Given the description of an element on the screen output the (x, y) to click on. 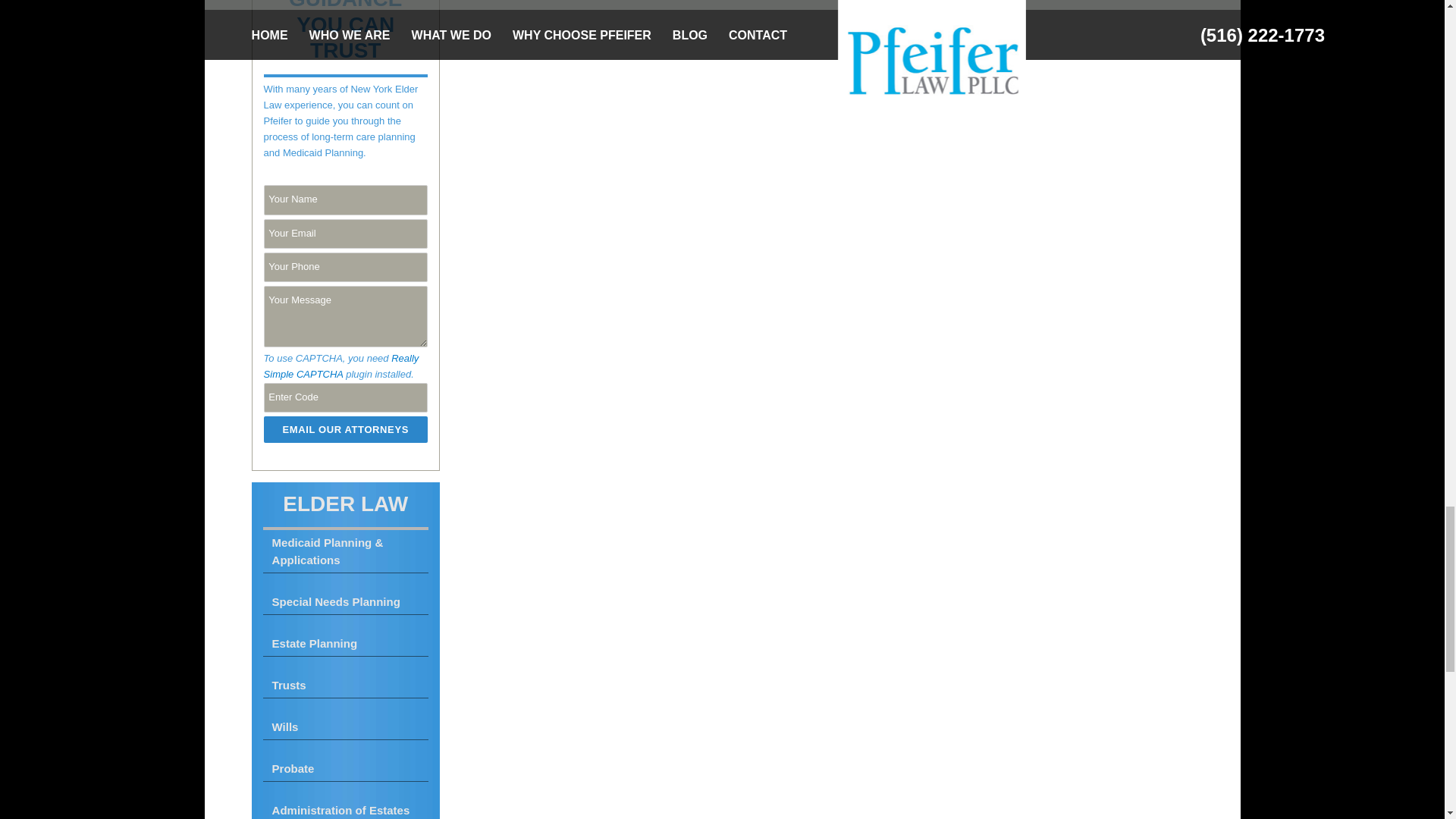
Special Needs Planning (345, 601)
Estate Planning (345, 643)
EMAIL OUR ATTORNEYS (345, 429)
Really Simple CAPTCHA (341, 366)
Wills (345, 727)
Trusts (345, 685)
EMAIL OUR ATTORNEYS (345, 429)
